Given the description of an element on the screen output the (x, y) to click on. 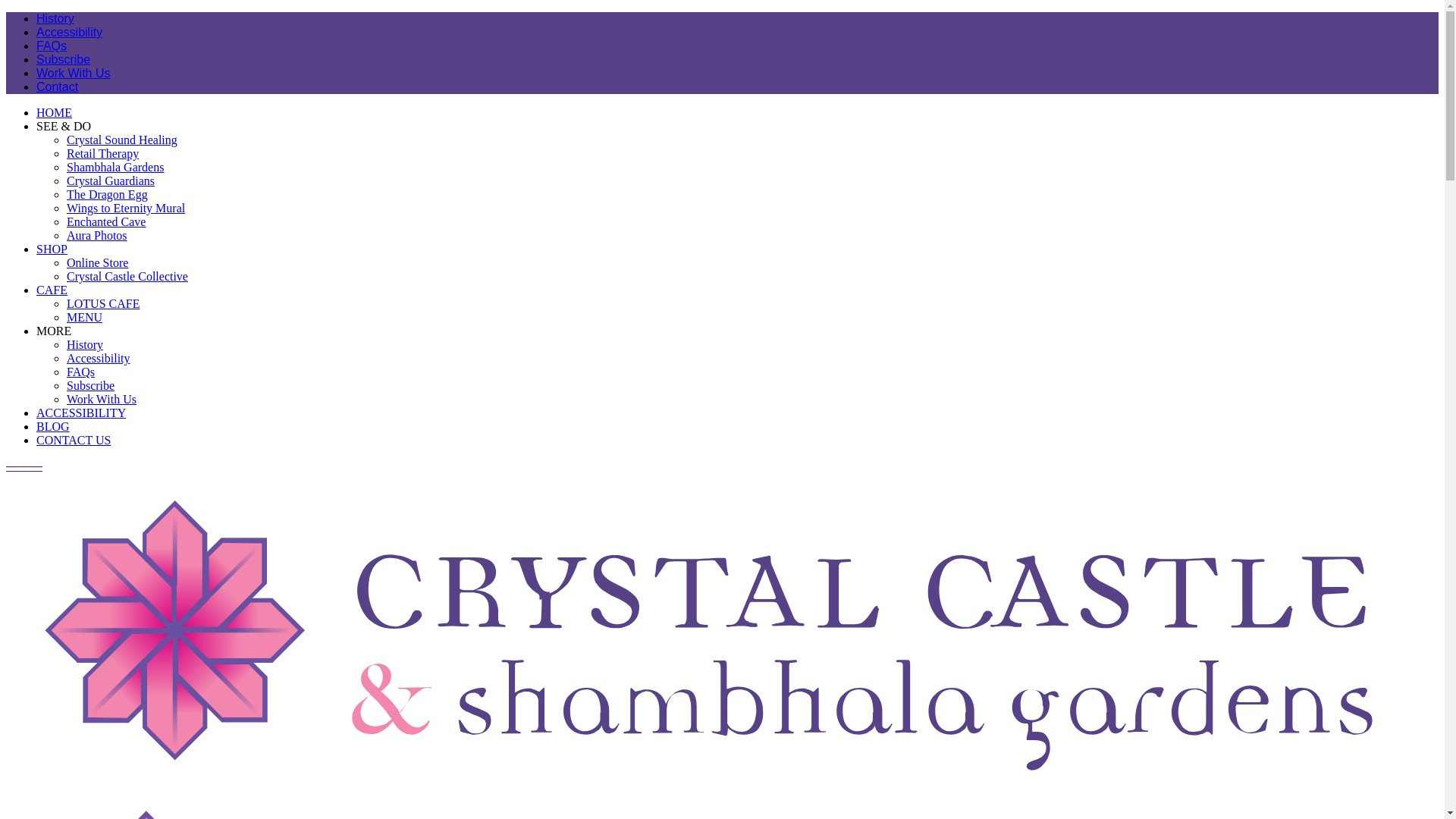
HOME Element type: text (54, 112)
Work With Us Element type: text (72, 72)
History Element type: text (84, 344)
Wings to Eternity Mural Element type: text (125, 207)
Work With Us Element type: text (101, 398)
LOTUS CAFE Element type: text (102, 303)
SHOP Element type: text (51, 248)
BLOG Element type: text (52, 426)
MENU Element type: text (84, 316)
Retail Therapy Element type: text (102, 153)
Enchanted Cave Element type: text (105, 221)
FAQs Element type: text (51, 45)
Accessibility Element type: text (69, 31)
Shambhala Gardens Element type: text (114, 166)
Aura Photos Element type: text (96, 235)
FAQs Element type: text (80, 371)
CAFE Element type: text (51, 289)
Crystal Sound Healing Element type: text (121, 139)
Crystal Castle Collective Element type: text (127, 275)
Contact Element type: text (57, 86)
Subscribe Element type: text (63, 59)
The Dragon Egg Element type: text (106, 194)
Subscribe Element type: text (90, 385)
SEE & DO Element type: text (63, 125)
Accessibility Element type: text (98, 357)
CONTACT US Element type: text (73, 439)
Crystal Guardians Element type: text (110, 180)
ACCESSIBILITY Element type: text (80, 412)
Online Store Element type: text (97, 262)
History Element type: text (55, 18)
MORE Element type: text (53, 330)
